Given the description of an element on the screen output the (x, y) to click on. 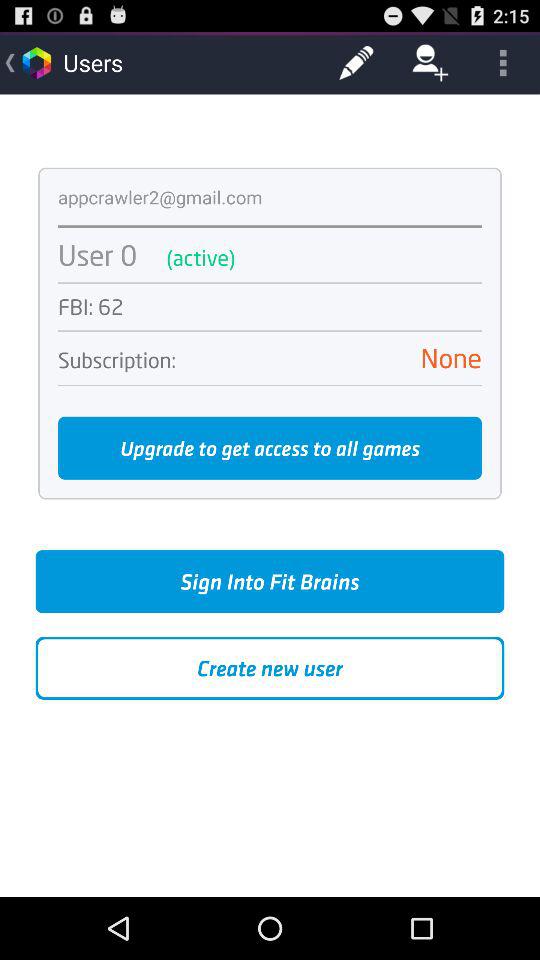
open app below the fbi: 62 (269, 330)
